Given the description of an element on the screen output the (x, y) to click on. 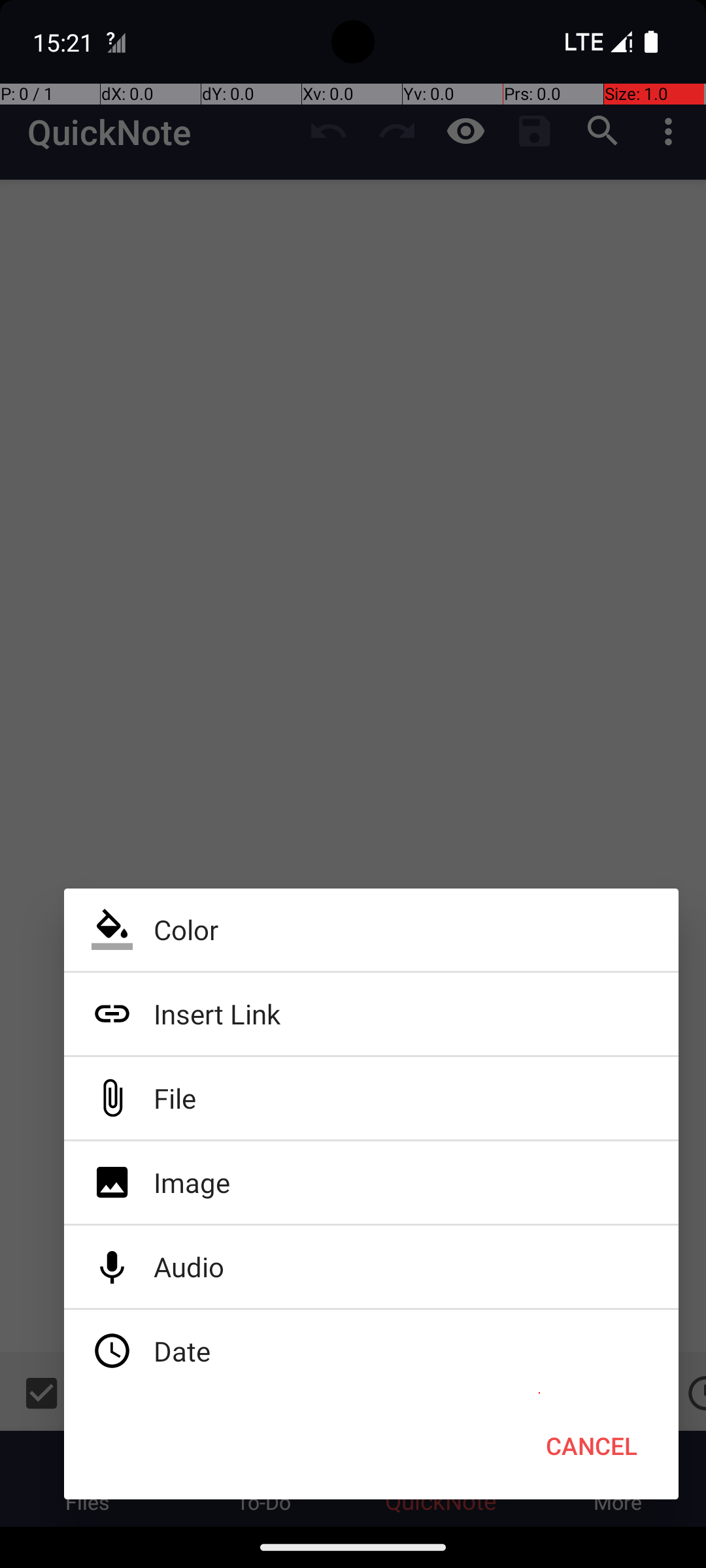
15:21 Element type: android.widget.TextView (64, 41)
